Given the description of an element on the screen output the (x, y) to click on. 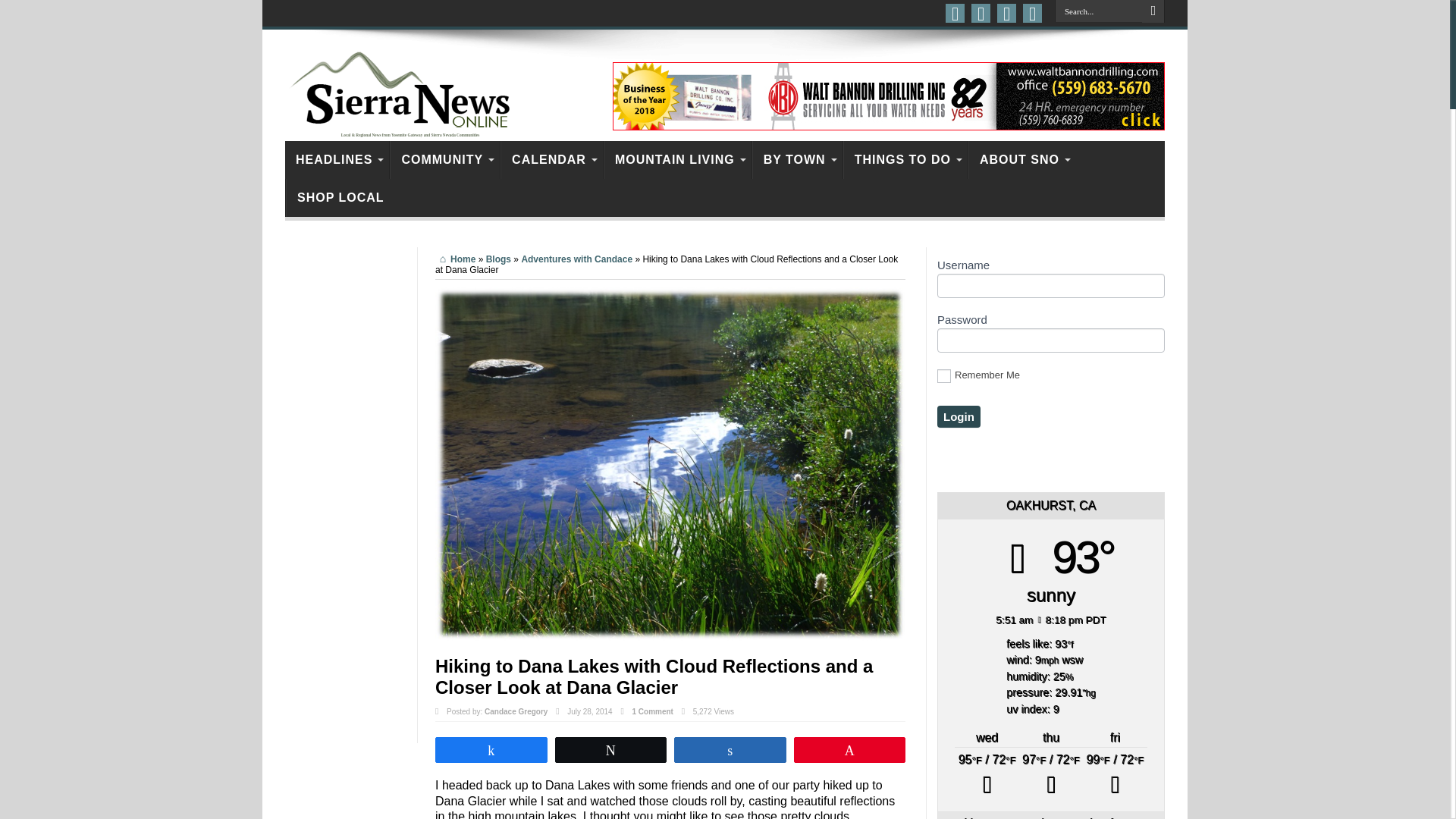
CALENDAR (551, 159)
HEADLINES (336, 159)
forever (943, 376)
COMMUNITY (444, 159)
Search... (1097, 11)
Login (958, 416)
Sierra News Online (406, 121)
Search (1152, 11)
MOUNTAIN LIVING (677, 159)
WBD red - November 2018 - 728x90 (888, 96)
